Given the description of an element on the screen output the (x, y) to click on. 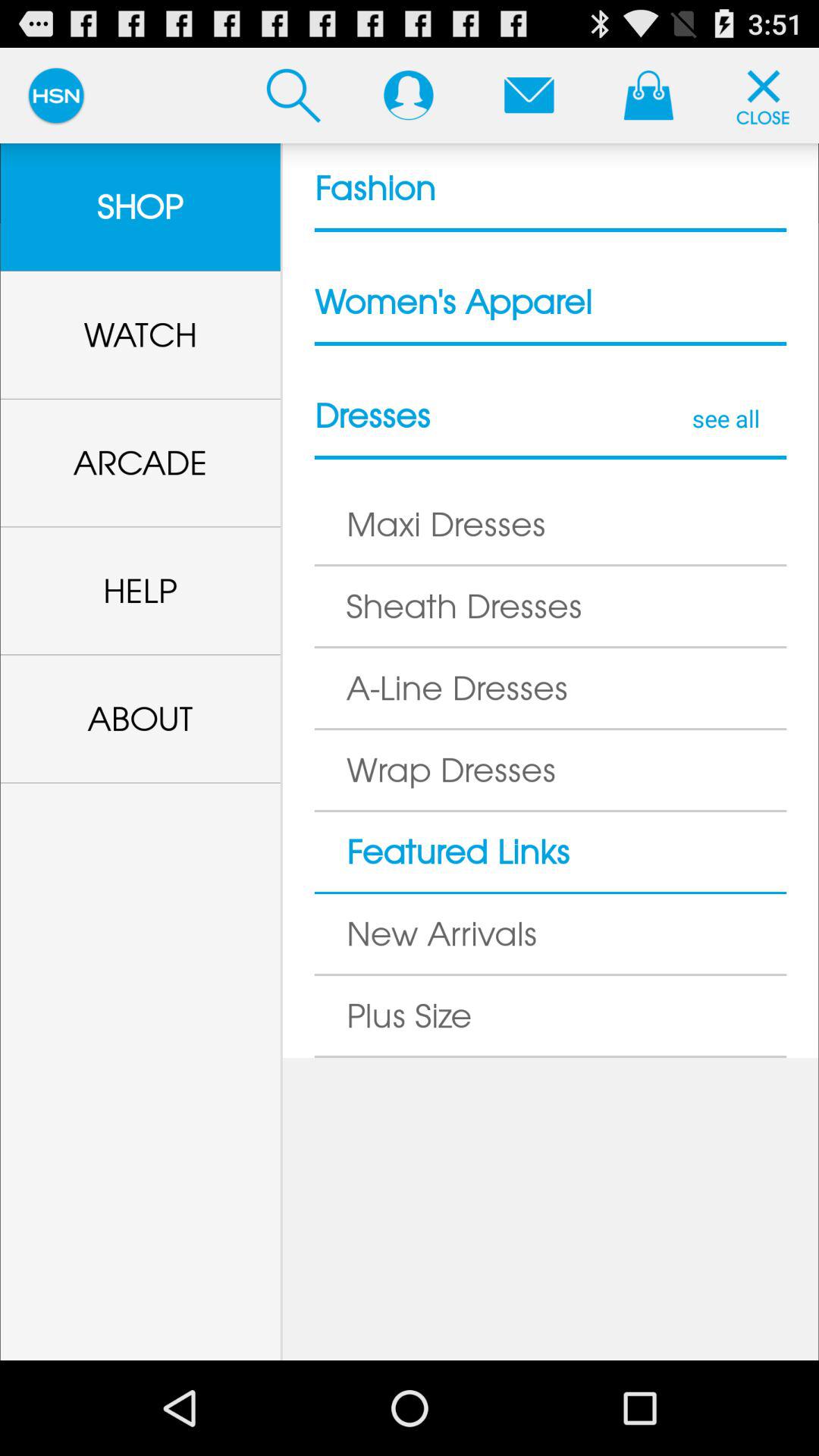
view profile (408, 95)
